Given the description of an element on the screen output the (x, y) to click on. 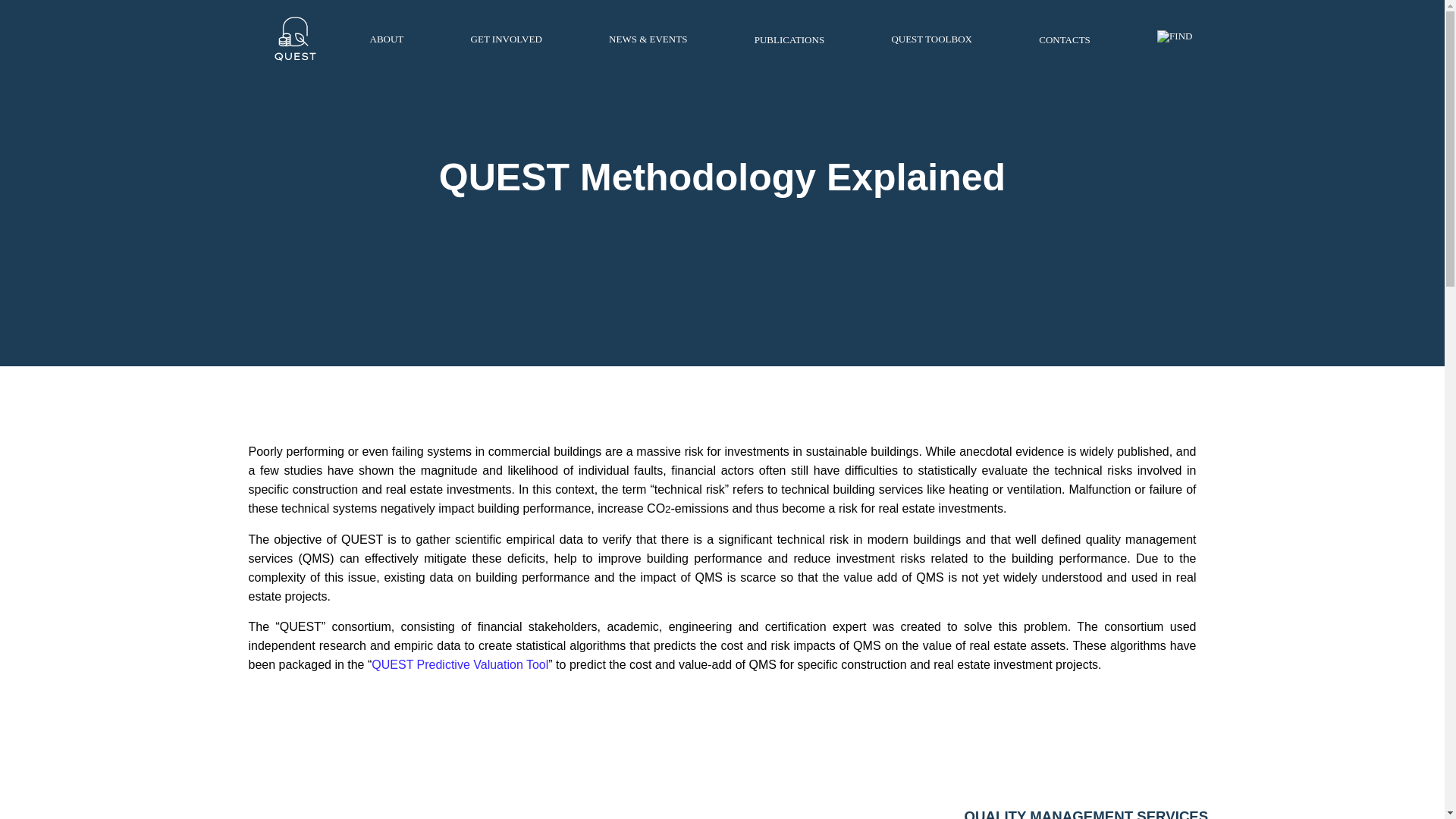
ABOUT (386, 39)
GET INVOLVED (505, 39)
QUEST TOOLBOX (931, 39)
PUBLICATIONS (789, 39)
QUEST Predictive Valuation Tool (459, 664)
CONTACTS (1064, 39)
